Given the description of an element on the screen output the (x, y) to click on. 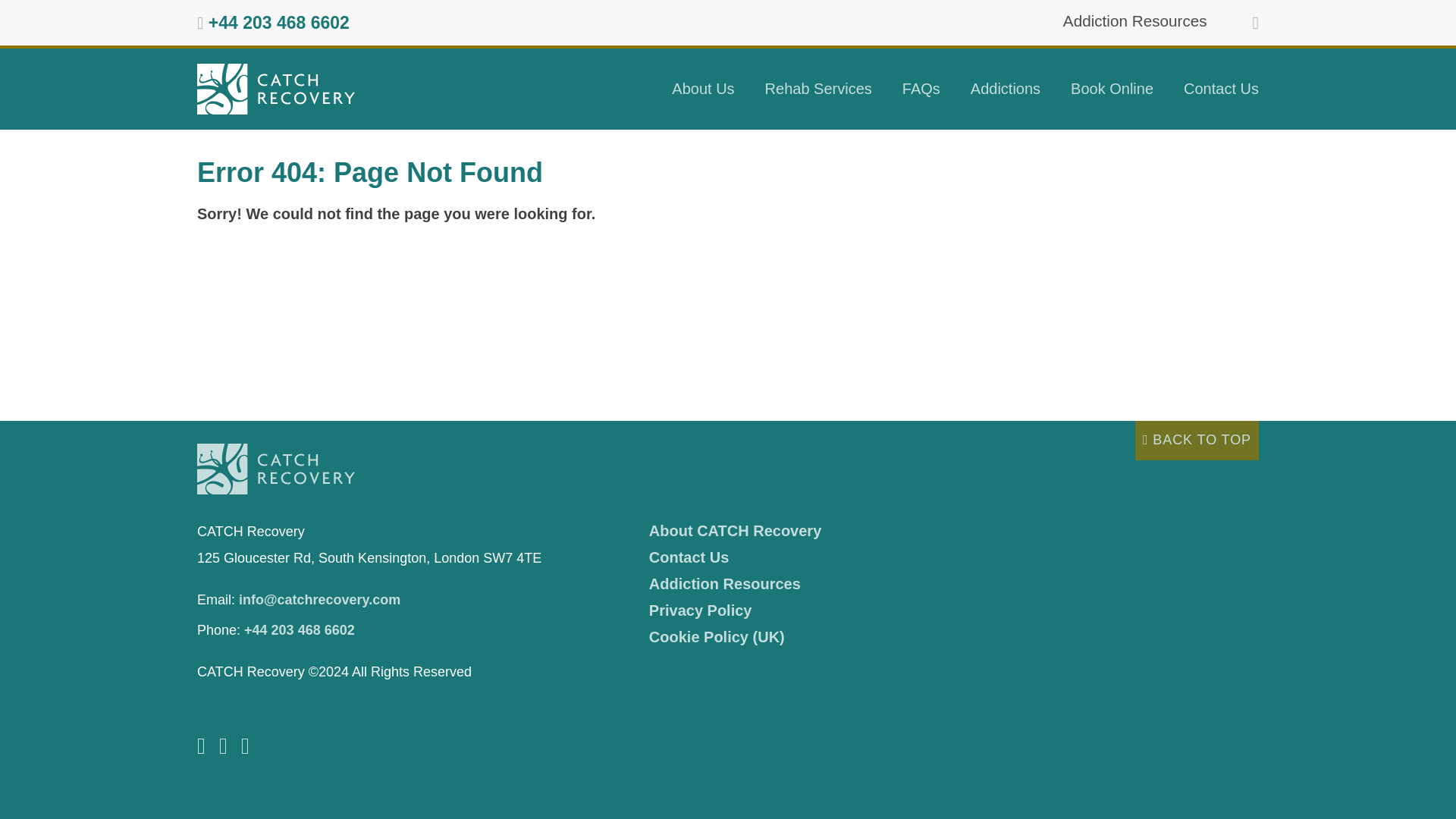
Call CATCH Recovery (299, 629)
Rehab Services (817, 88)
CATCH Recovery (275, 88)
Addiction Resources (1134, 20)
Addictions (1005, 88)
Book Online (1112, 88)
About Us (702, 88)
Call CATCH Recovery (278, 22)
